Given the description of an element on the screen output the (x, y) to click on. 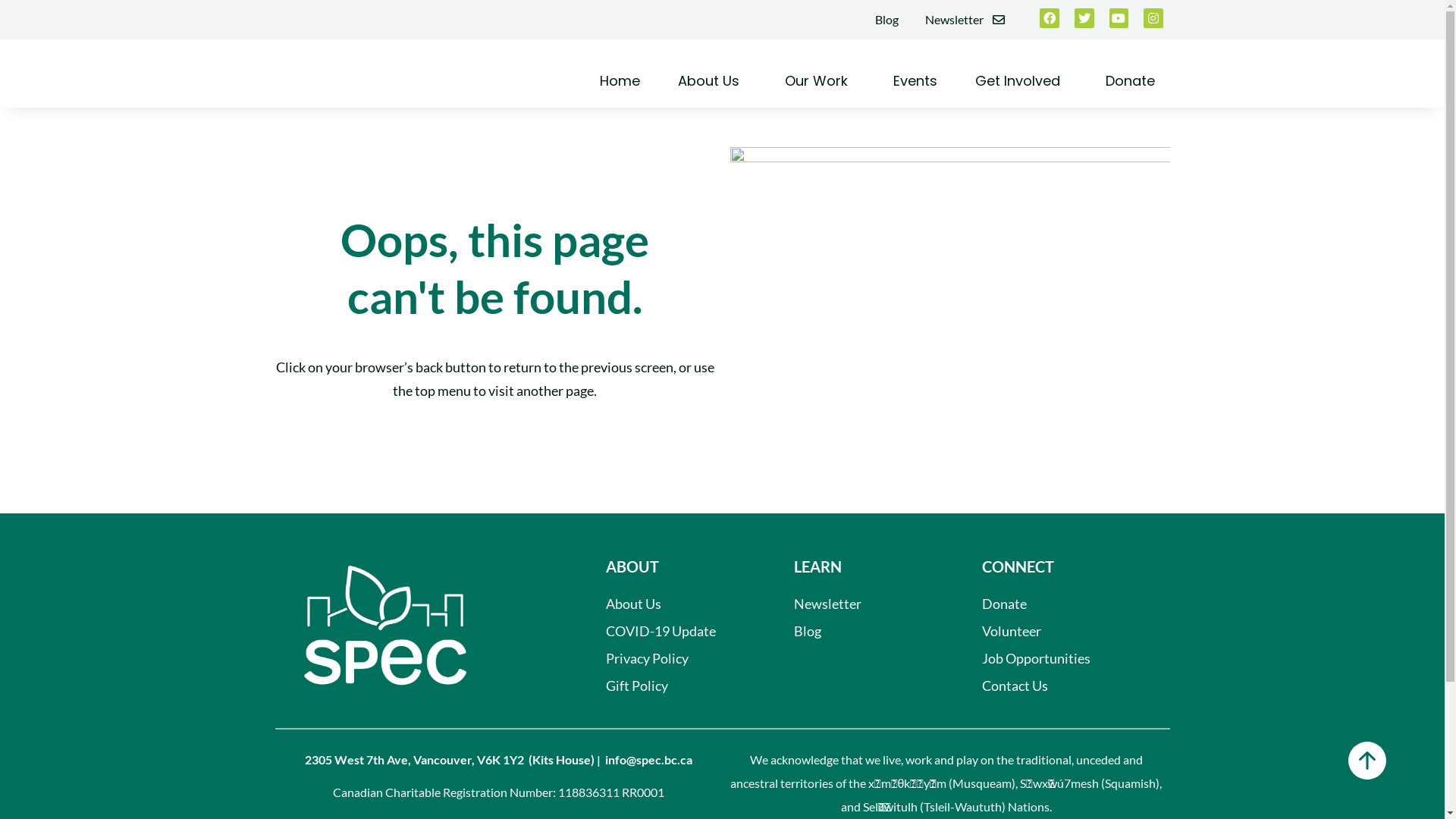
About Us Element type: text (681, 603)
About Us Element type: text (712, 81)
Twitter Element type: text (1084, 18)
Events Element type: text (915, 81)
Get Involved Element type: text (1021, 81)
Donate Element type: text (1066, 603)
Blog Element type: text (869, 630)
Newsletter Element type: text (964, 19)
Newsletter Element type: text (869, 603)
Home Element type: text (618, 81)
Instagram Element type: text (1153, 18)
Gift Policy Element type: text (681, 685)
Donate Element type: text (1130, 81)
Youtube Element type: text (1119, 18)
Contact Us Element type: text (1066, 685)
Our Work Element type: text (818, 81)
Privacy Policy Element type: text (681, 658)
Volunteer Element type: text (1066, 630)
COVID-19 Update Element type: text (681, 630)
Job Opportunities Element type: text (1066, 658)
Facebook Element type: text (1049, 18)
Blog Element type: text (886, 19)
